Given the description of an element on the screen output the (x, y) to click on. 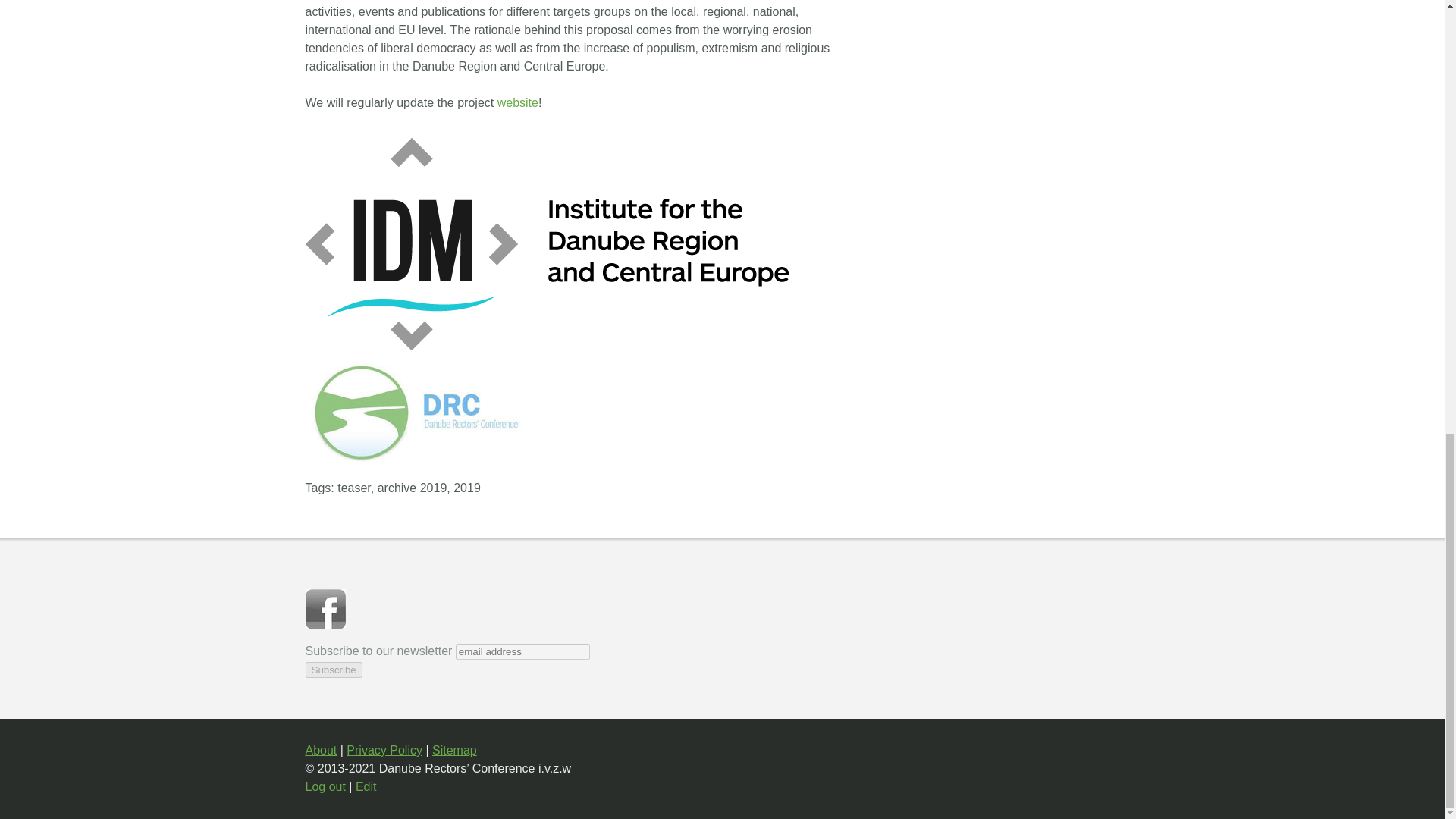
Subscribe (332, 669)
